Given the description of an element on the screen output the (x, y) to click on. 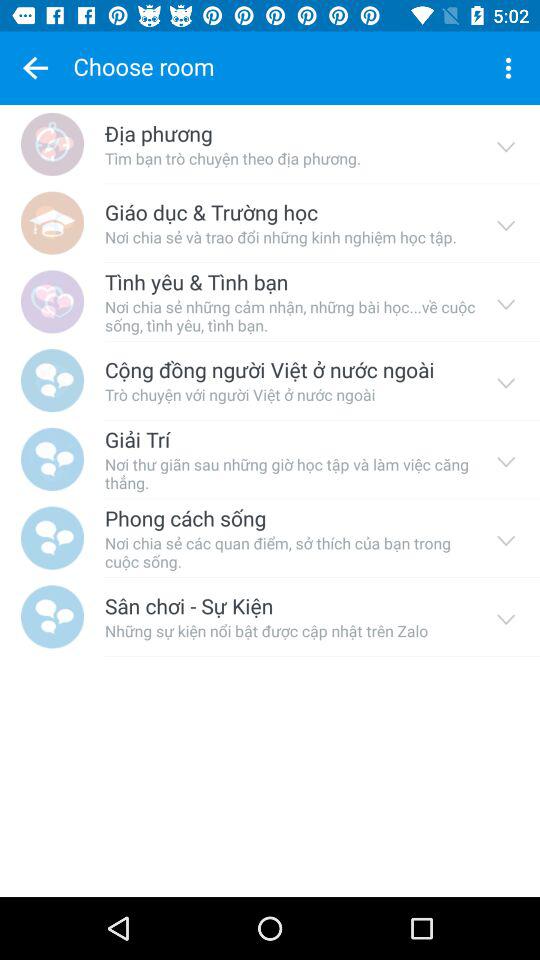
launch the item to the left of choose room icon (35, 68)
